Given the description of an element on the screen output the (x, y) to click on. 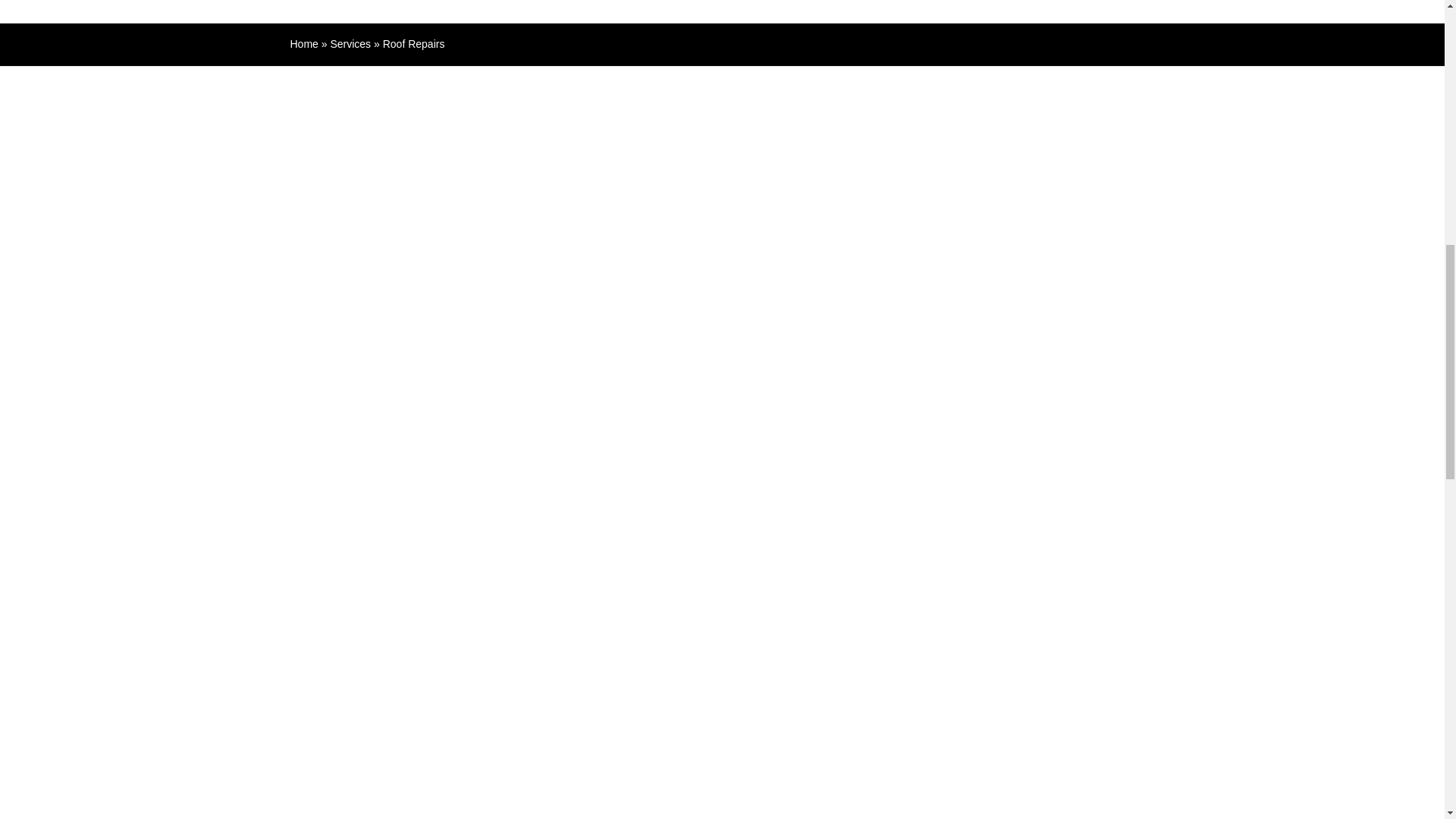
Services (350, 43)
Home (303, 43)
